Given the description of an element on the screen output the (x, y) to click on. 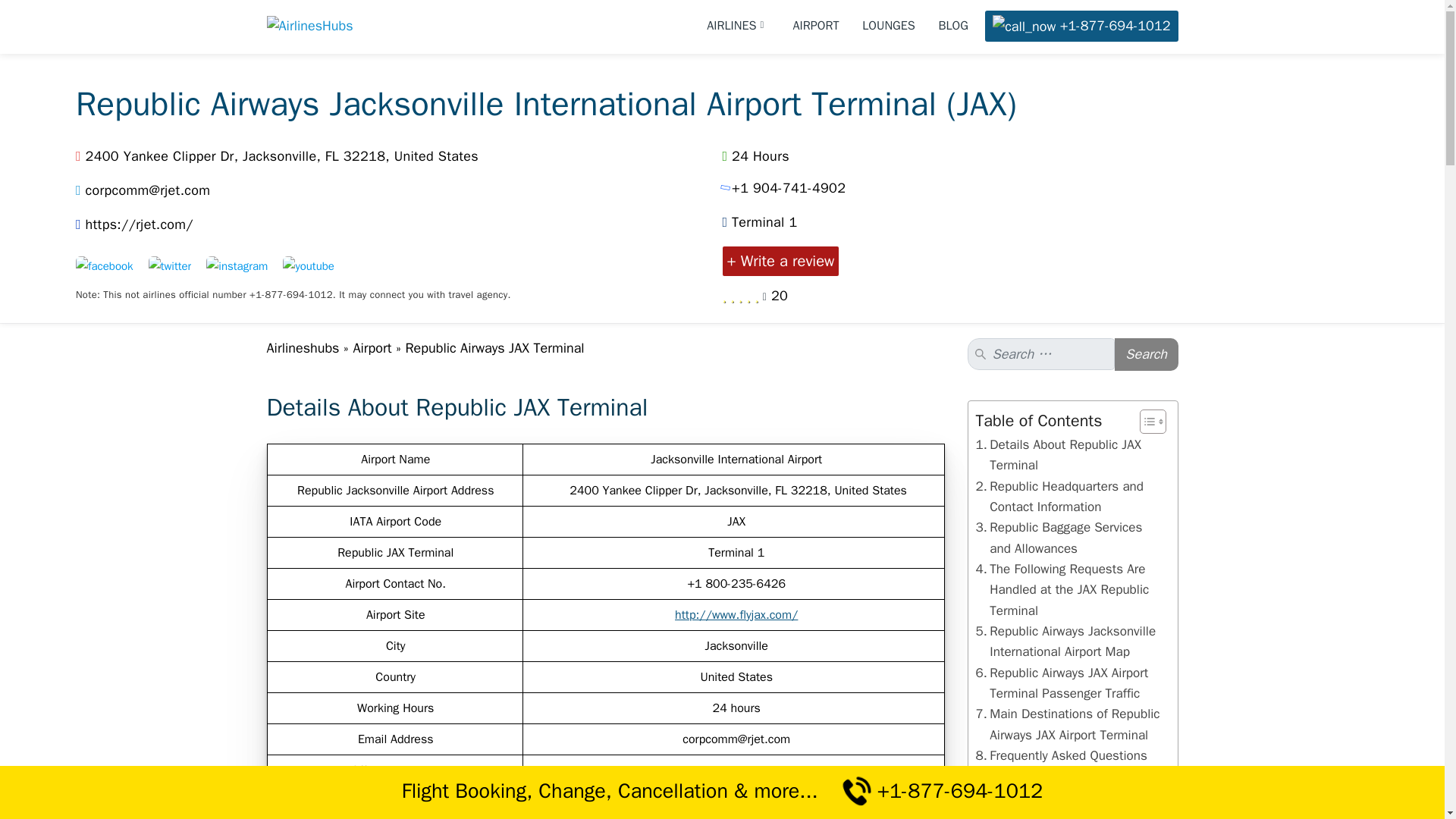
Search (1146, 354)
AIRLINES (738, 25)
AIRPORT (816, 25)
Search (1146, 354)
